Given the description of an element on the screen output the (x, y) to click on. 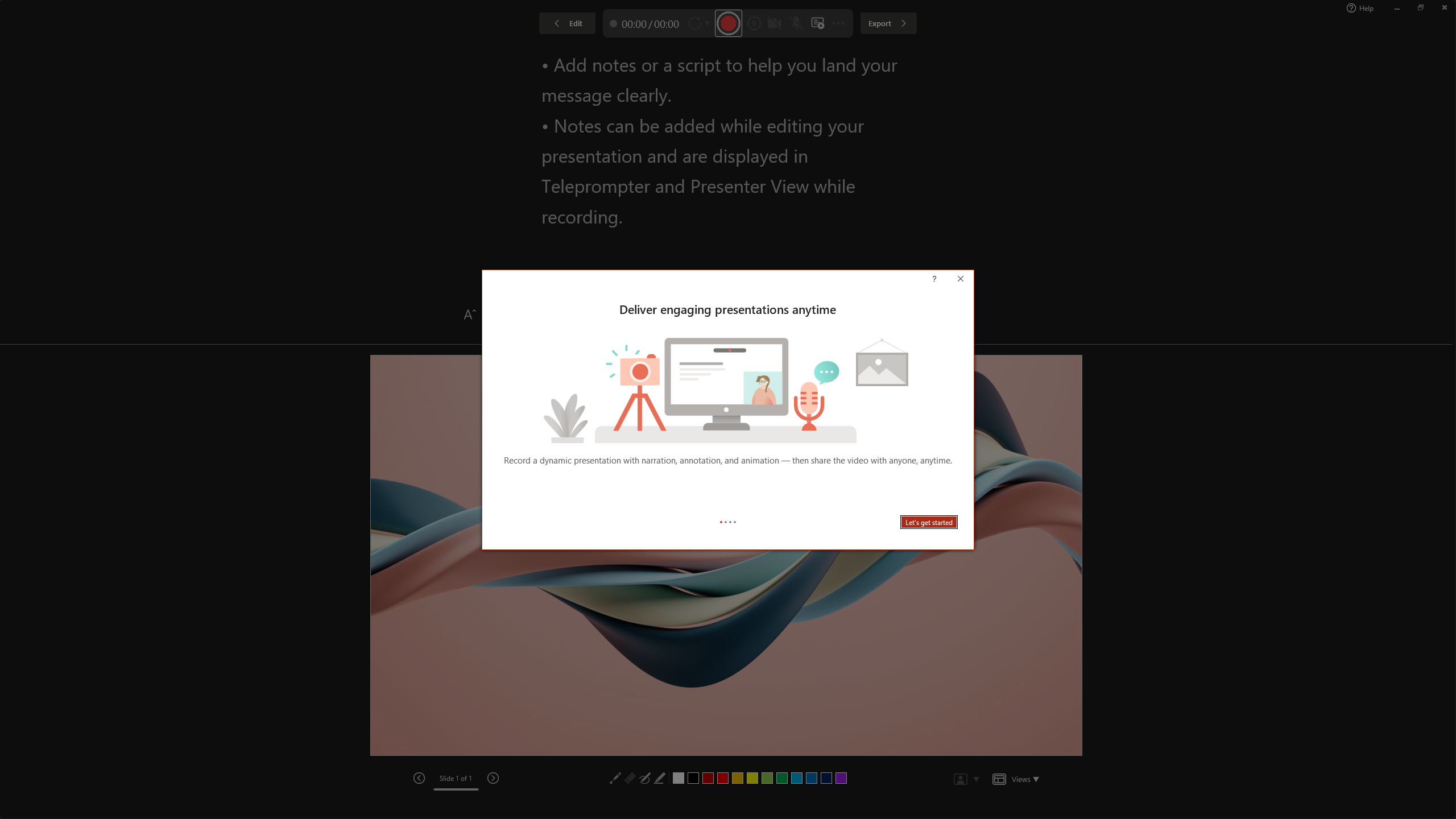
Organic (403, 56)
Integral Variant 4 (1270, 56)
Damask (826, 56)
Context help (950, 280)
Wisp (561, 56)
Ion (296, 56)
